Given the description of an element on the screen output the (x, y) to click on. 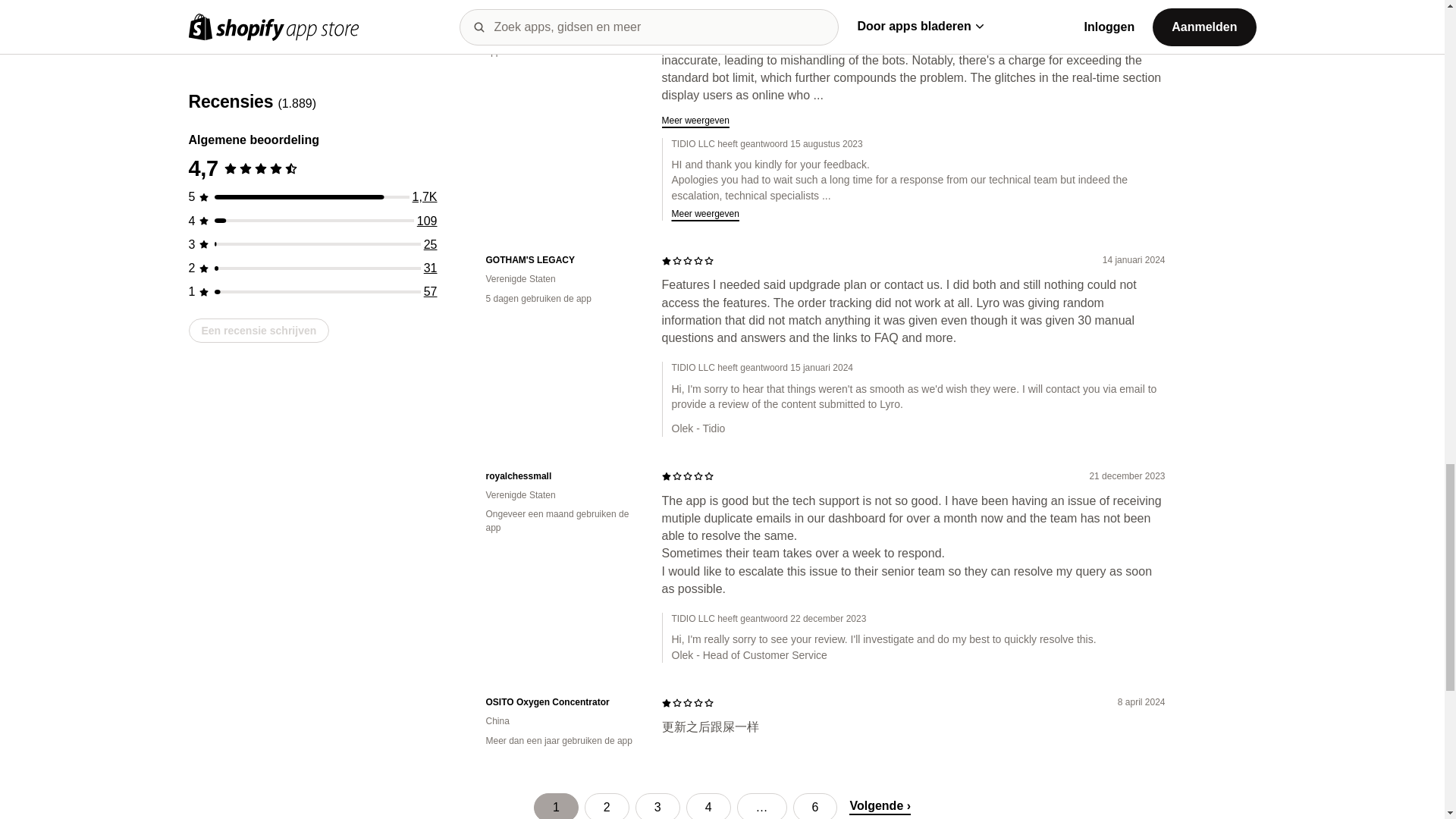
OSITO Oxygen Concentrator (560, 702)
royalchessmall (560, 476)
GOTHAM'S LEGACY (560, 259)
BabiesDecor (560, 3)
